Given the description of an element on the screen output the (x, y) to click on. 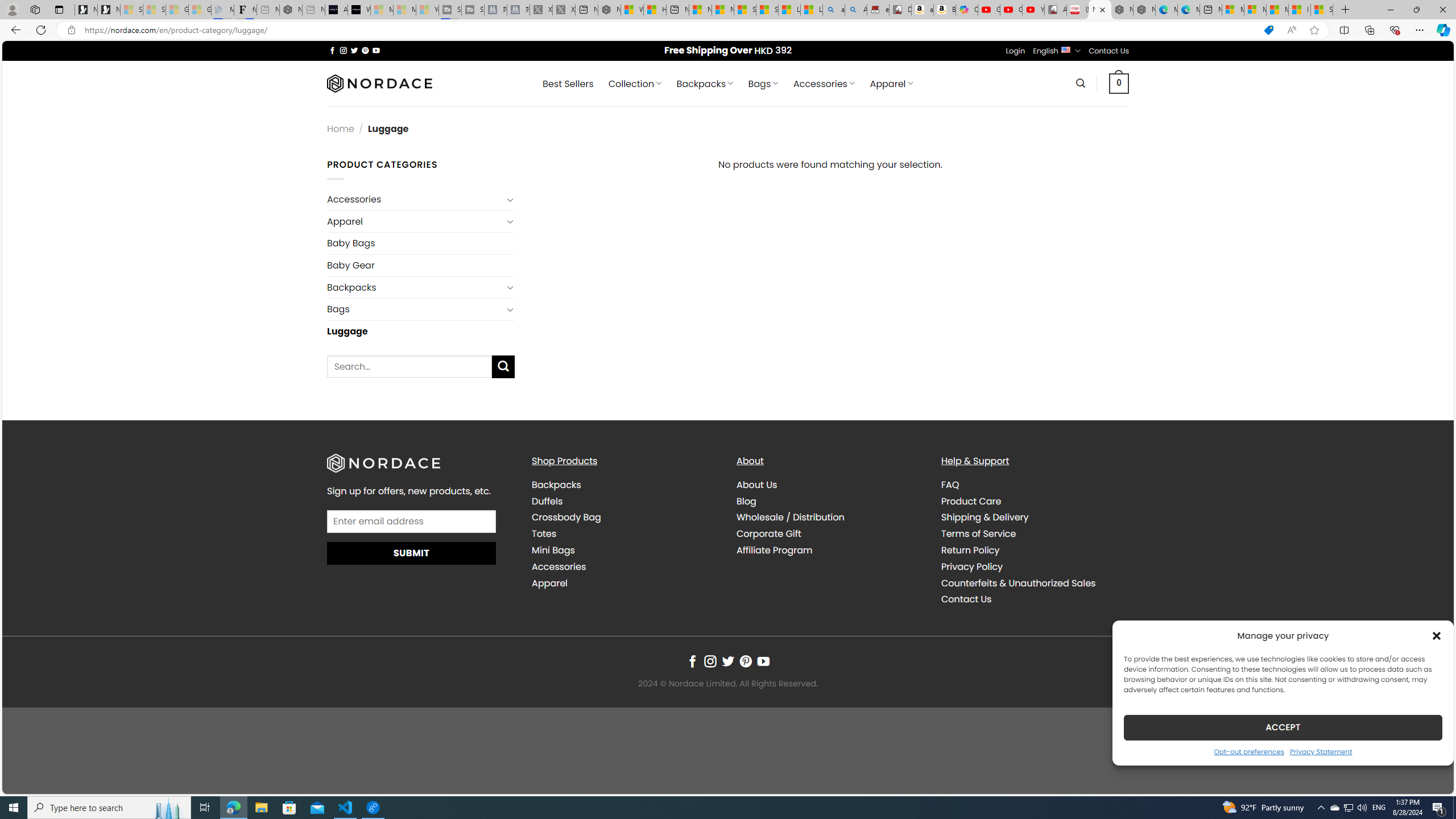
YouTube Kids - An App Created for Kids to Explore Content (1033, 9)
AI Voice Changer for PC and Mac - Voice.ai (336, 9)
Baby Gear (421, 264)
Mini Bags (553, 550)
I Gained 20 Pounds of Muscle in 30 Days! | Watch (1300, 9)
New tab - Sleeping (313, 9)
Return Policy (970, 550)
Backpacks (625, 484)
Microsoft Start (1276, 9)
 0  (1118, 83)
Search for: (409, 366)
App bar (728, 29)
